Given the description of an element on the screen output the (x, y) to click on. 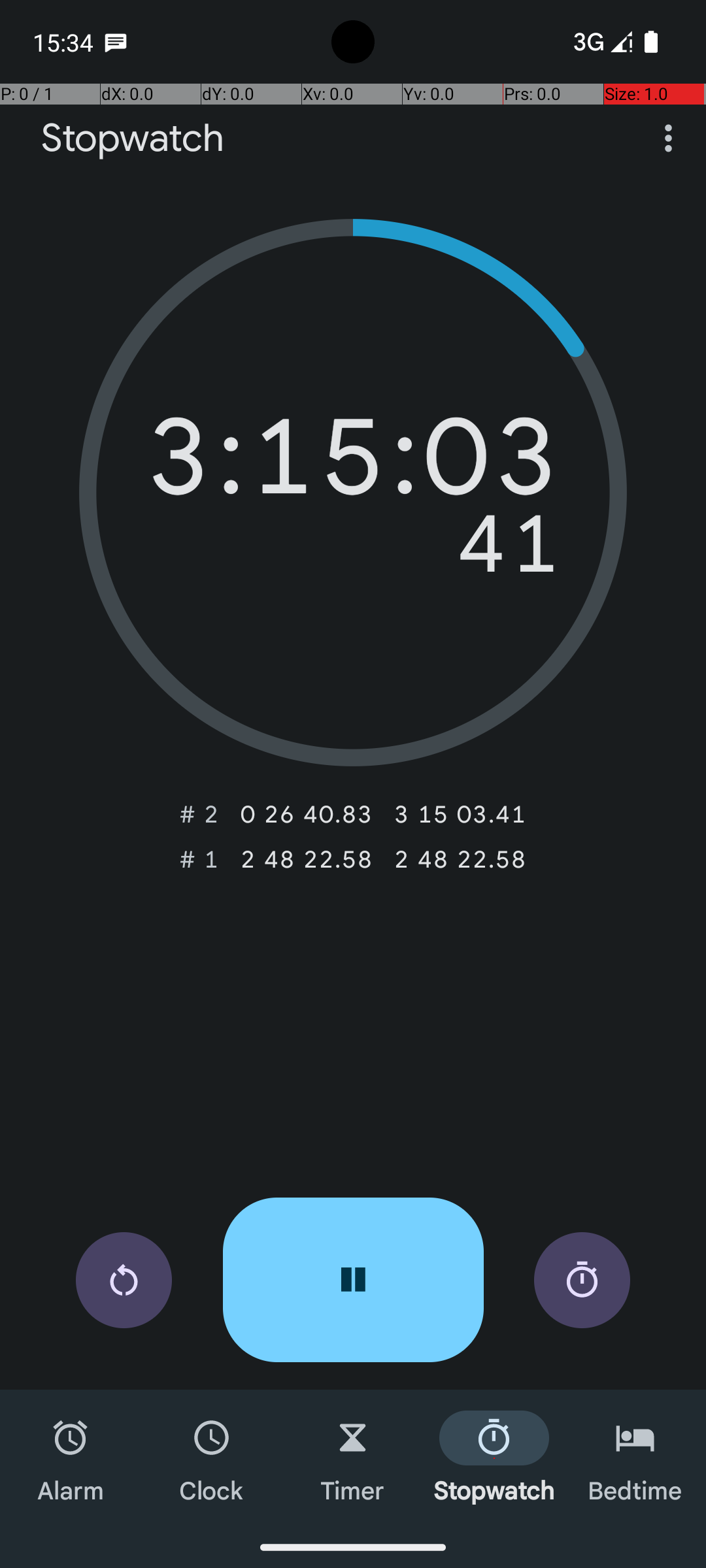
3:15:03 Element type: android.widget.TextView (352, 462)
# 2 Element type: android.widget.TextView (198, 814)
0‎ 26‎ 40.96 Element type: android.widget.TextView (305, 814)
3‎ 15‎ 03.54 Element type: android.widget.TextView (459, 814)
# 1 Element type: android.widget.TextView (198, 859)
2‎ 48‎ 22.58 Element type: android.widget.TextView (305, 859)
